Given the description of an element on the screen output the (x, y) to click on. 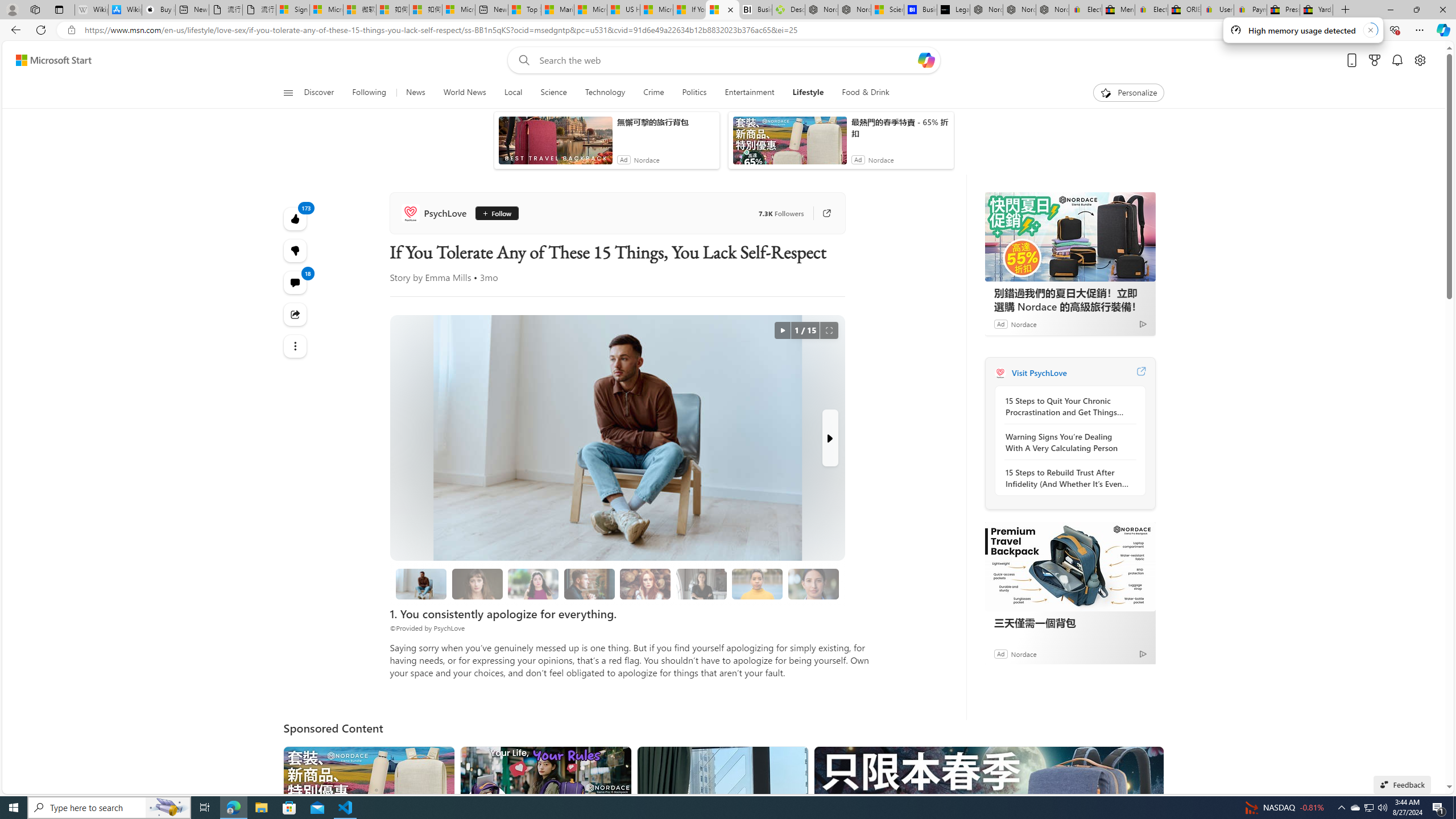
Science (553, 92)
Local (513, 92)
World News (464, 92)
Top Stories - MSN (524, 9)
Open navigation menu (287, 92)
3. Put some thought into it. (421, 583)
World News (464, 92)
Class: at-item (295, 345)
